Given the description of an element on the screen output the (x, y) to click on. 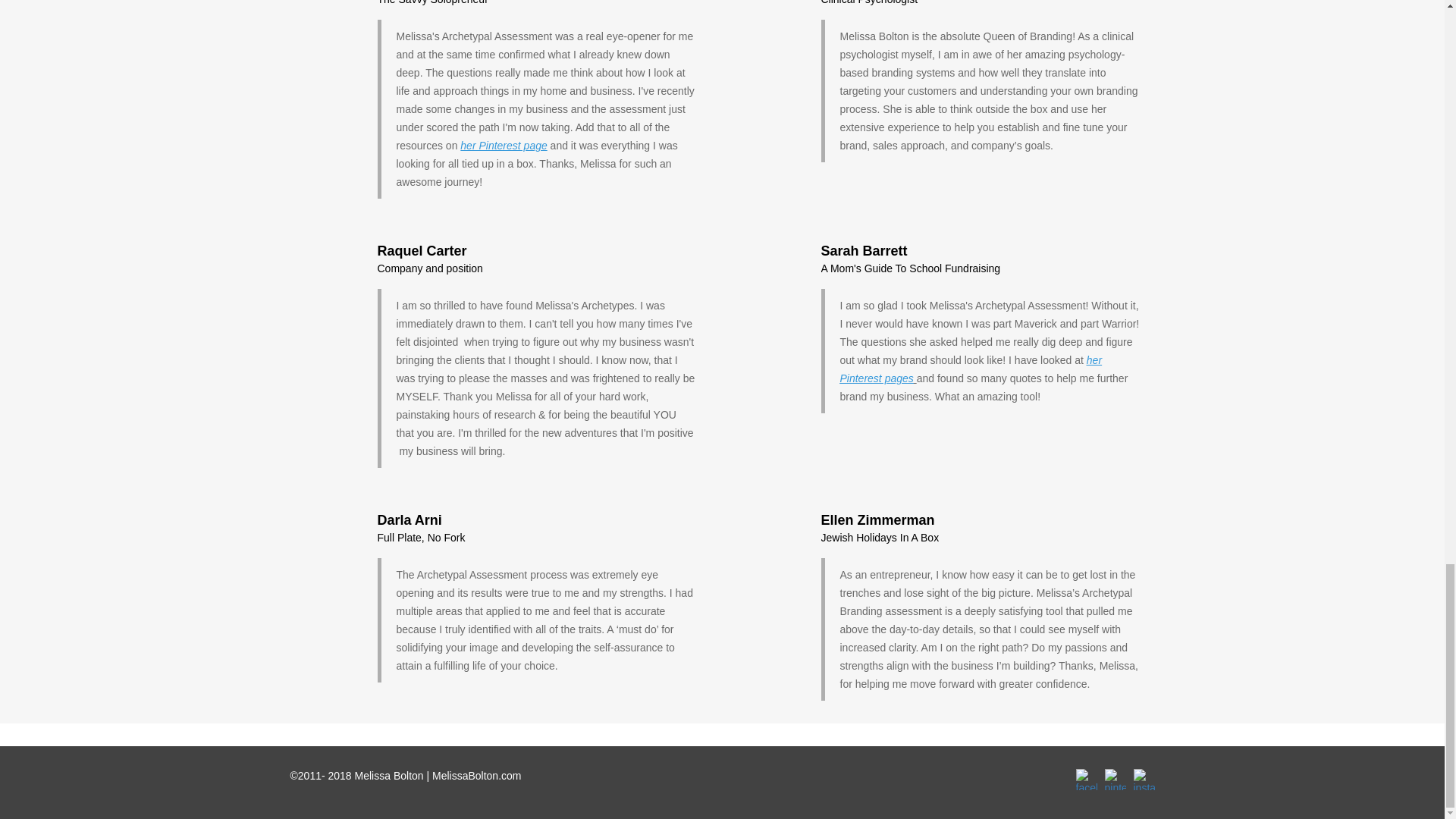
Pindiana Jones (971, 368)
her Pinterest page (503, 145)
Pindiana Jones! (503, 145)
her Pinterest pages (971, 368)
